Given the description of an element on the screen output the (x, y) to click on. 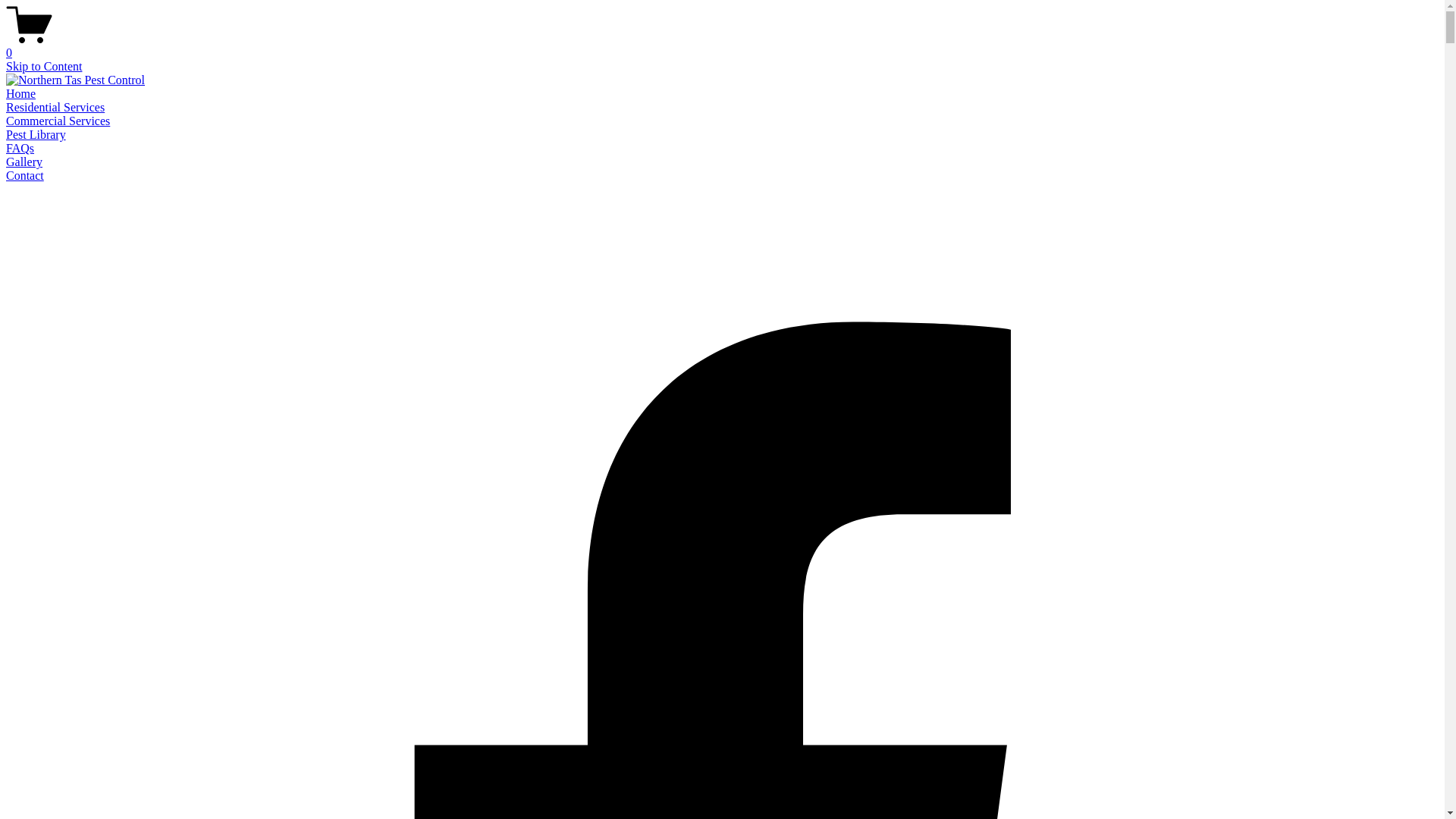
Residential Services Element type: text (55, 106)
0 Element type: text (722, 45)
Skip to Content Element type: text (43, 65)
FAQs Element type: text (20, 147)
Home Element type: text (20, 93)
Contact Element type: text (24, 175)
Gallery Element type: text (24, 161)
Pest Library Element type: text (35, 134)
Commercial Services Element type: text (57, 120)
